Given the description of an element on the screen output the (x, y) to click on. 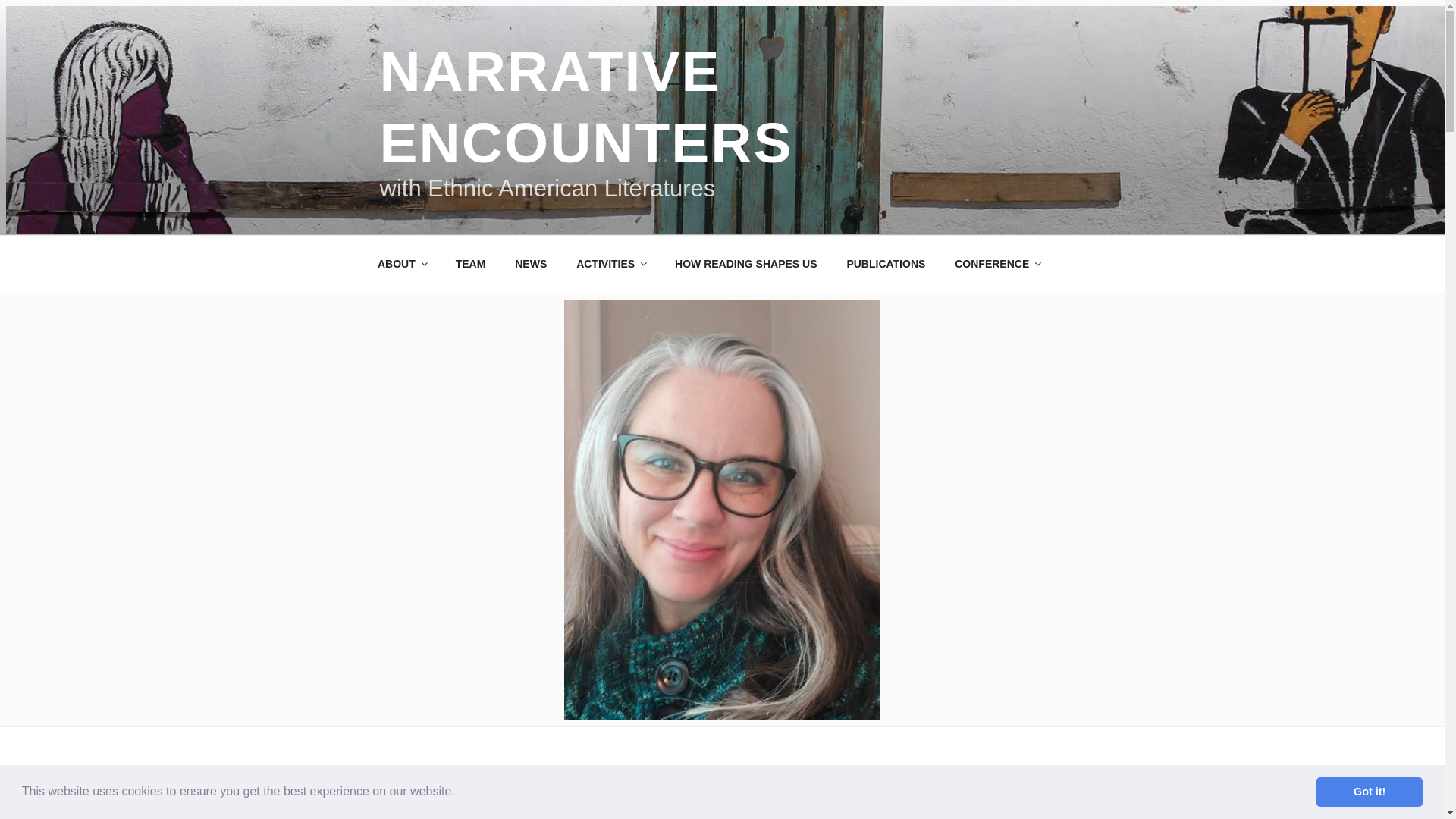
ABOUT (401, 263)
NARRATIVE ENCOUNTERS (585, 106)
21. MAY 2021 (413, 803)
NARRATIVEENCOUNTERSADMIN (556, 803)
HOW READING SHAPES US (745, 263)
PUBLICATIONS (885, 263)
CONFERENCE (997, 263)
ACTIVITIES (611, 263)
NEWS (531, 263)
TEAM (470, 263)
Got it! (1369, 791)
